Given the description of an element on the screen output the (x, y) to click on. 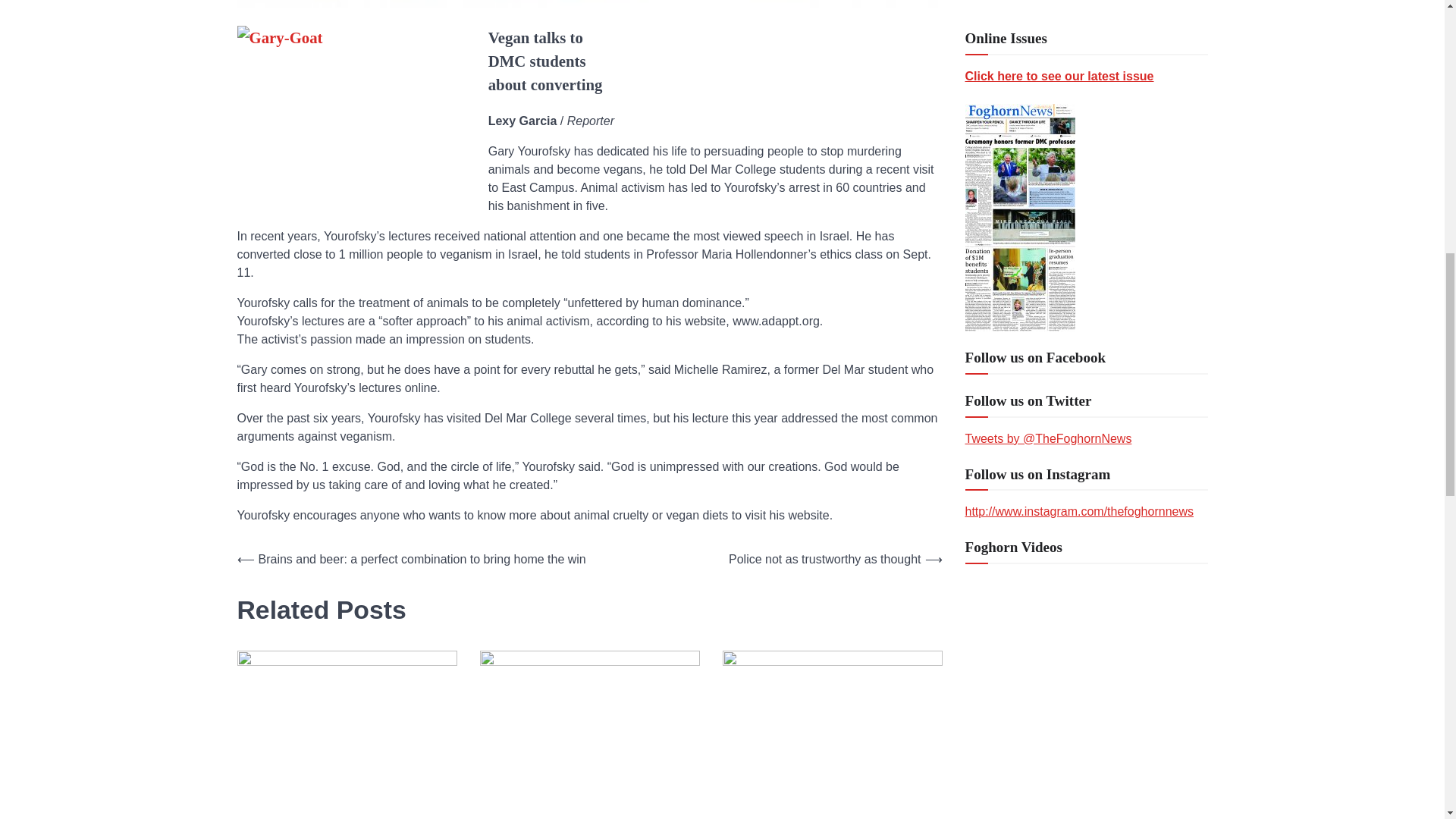
Send (988, 760)
Send (988, 760)
